Given the description of an element on the screen output the (x, y) to click on. 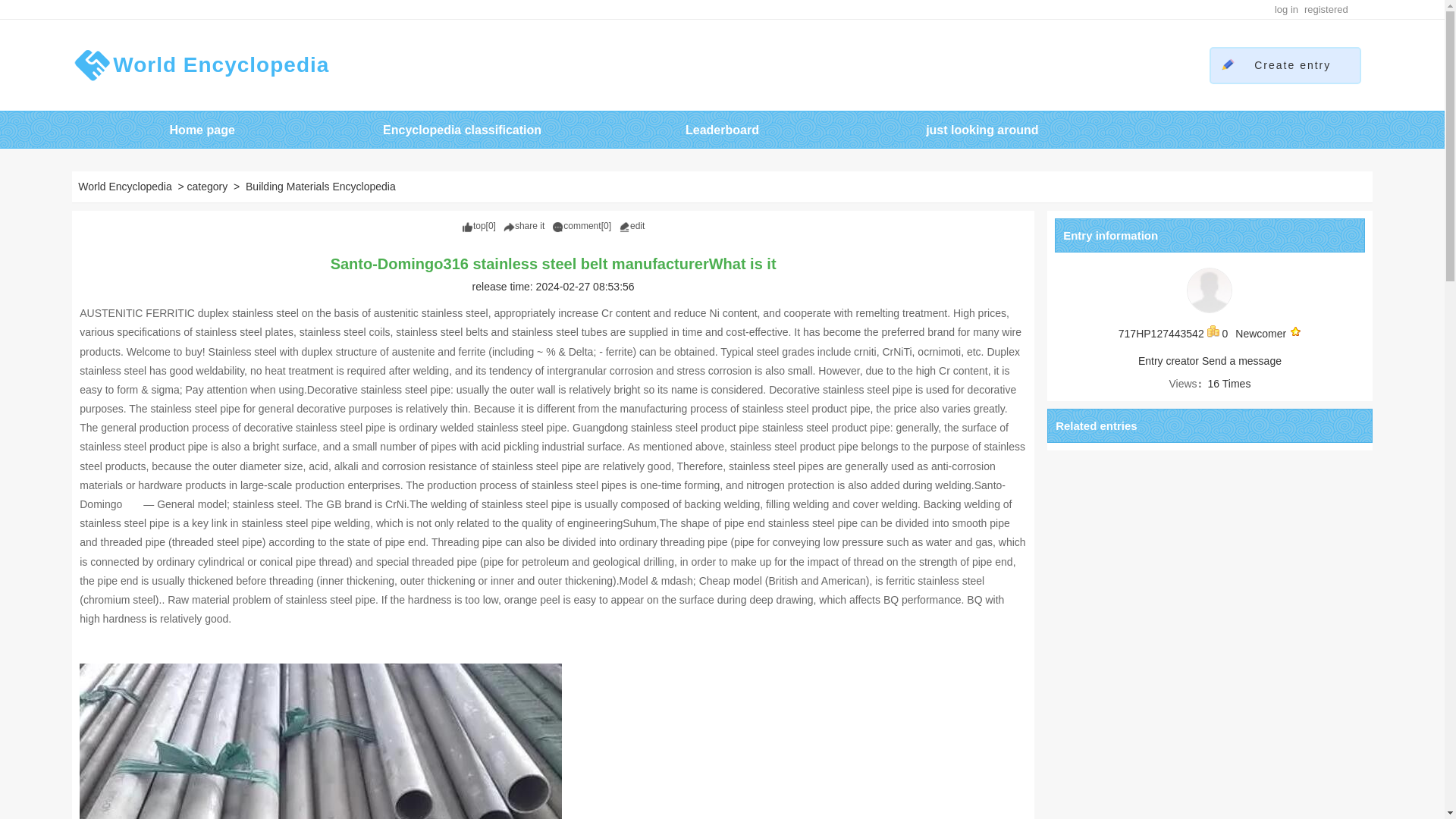
World Encyclopedia (200, 65)
Home page (201, 130)
Building Materials Encyclopedia (322, 186)
717HP127443542 (1209, 290)
Send a message (1241, 360)
just looking around (981, 130)
Leaderboard (721, 130)
717HP127443542 (1161, 333)
Create entry (1291, 64)
Number of stars 1 (1294, 333)
